Given the description of an element on the screen output the (x, y) to click on. 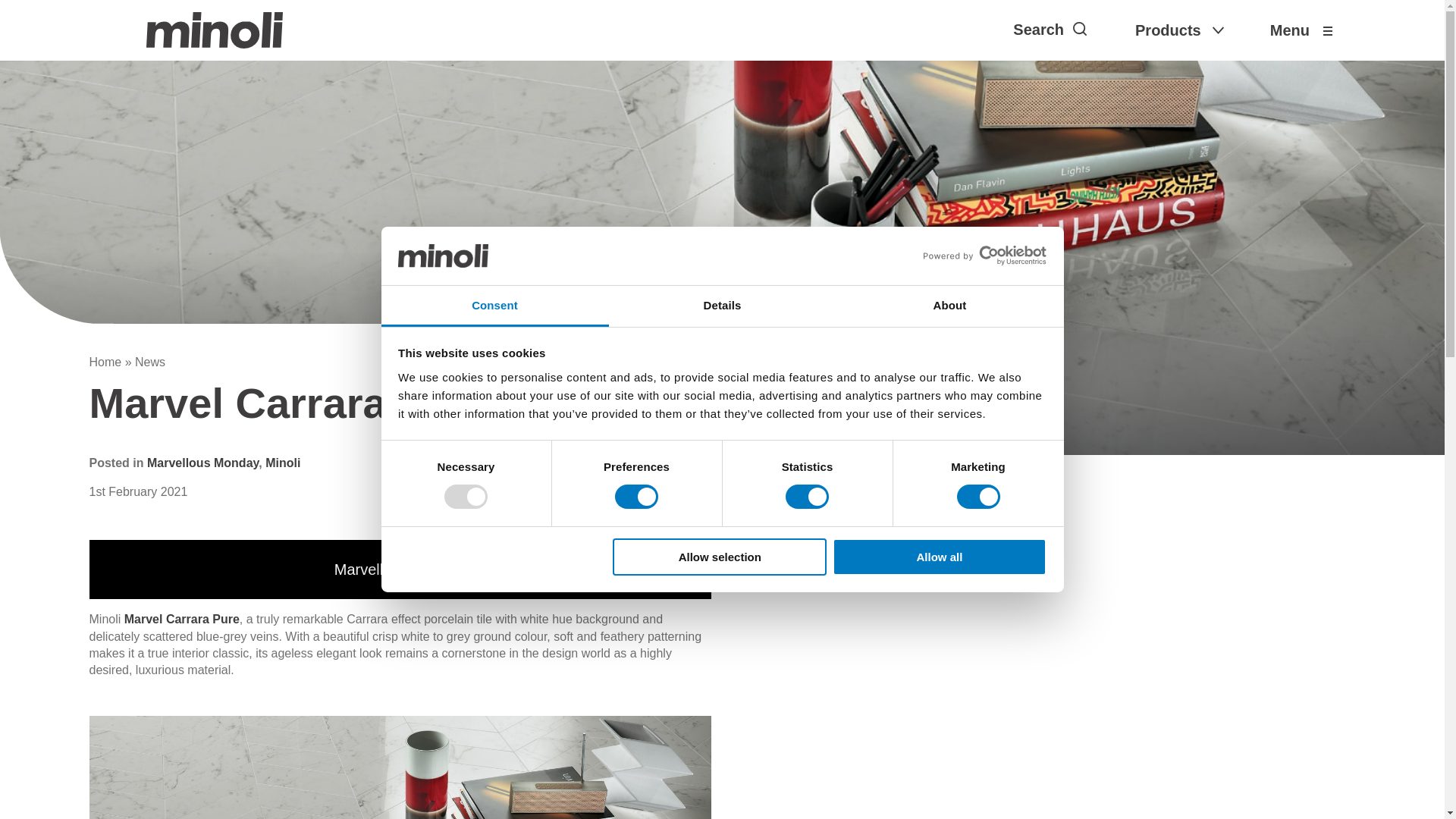
Consent (494, 305)
Allow all (939, 556)
Details (721, 305)
Allow selection (719, 556)
About (948, 305)
